Given the description of an element on the screen output the (x, y) to click on. 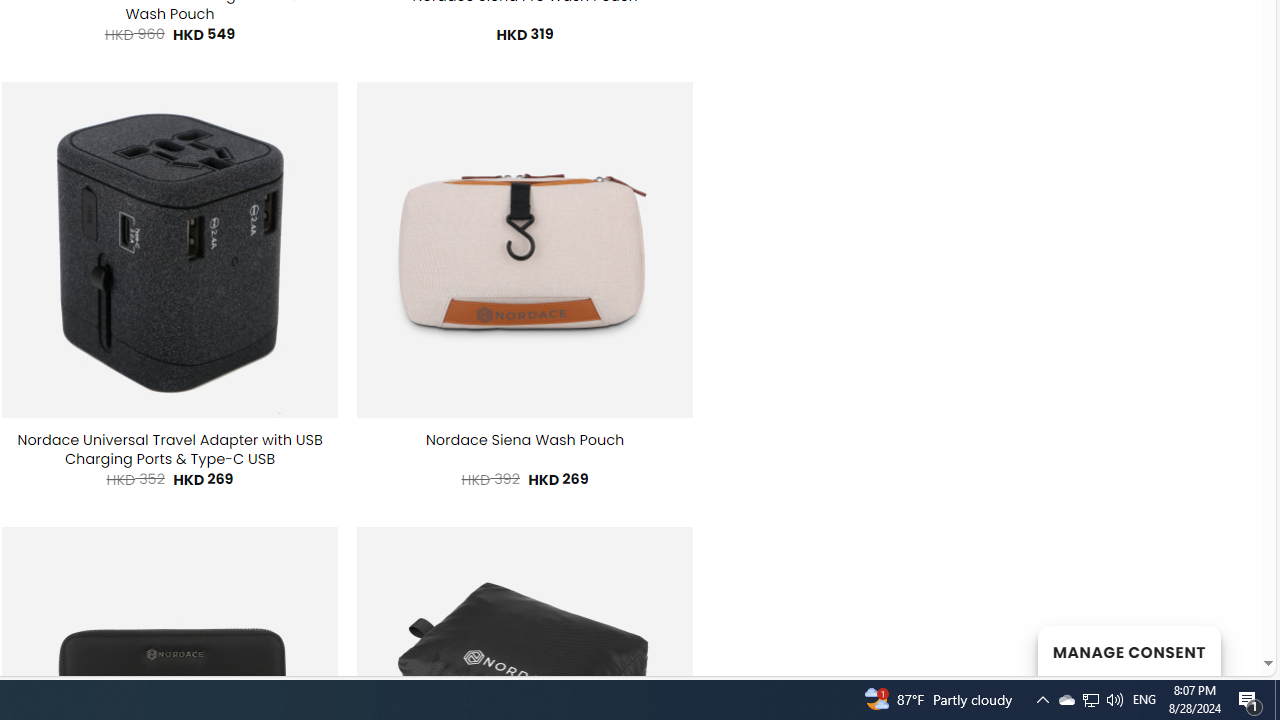
Nordace Siena Wash Pouch (524, 440)
MANAGE CONSENT (1128, 650)
